Given the description of an element on the screen output the (x, y) to click on. 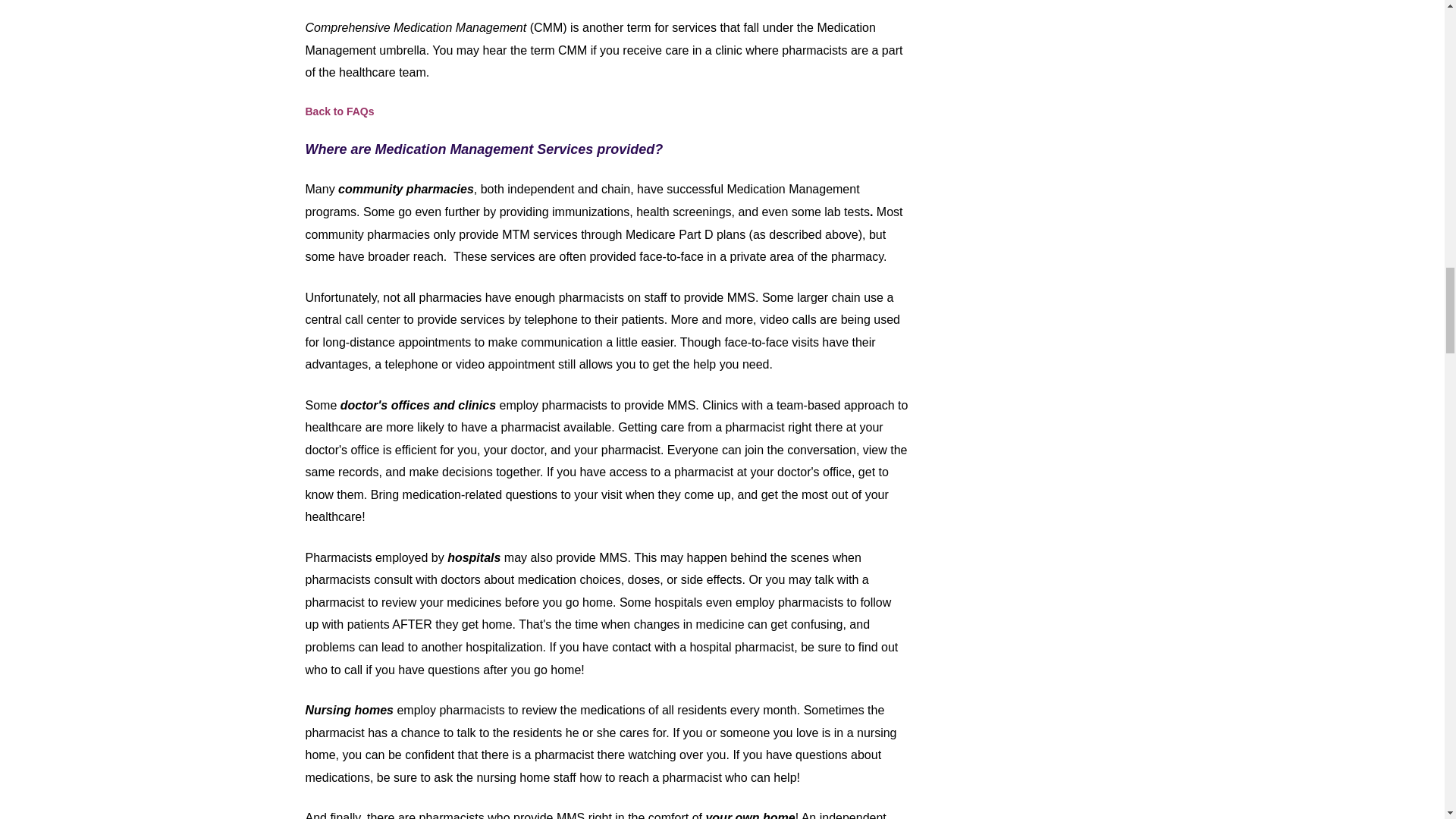
Back to FAQs (339, 111)
